Given the description of an element on the screen output the (x, y) to click on. 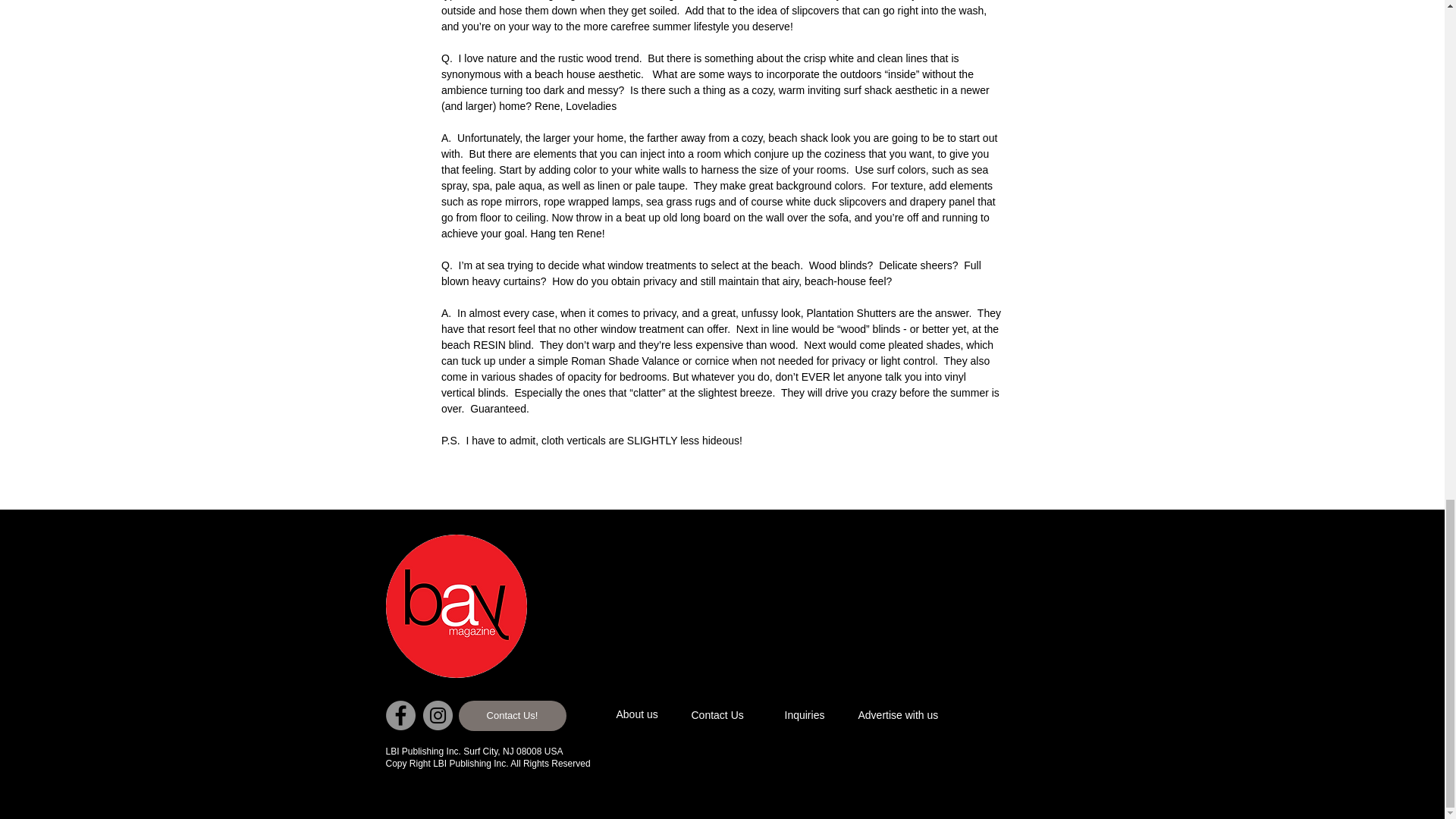
Inquiries (809, 716)
Contact Us (745, 716)
Advertise with us (922, 716)
About us (669, 715)
Contact Us! (512, 716)
